Given the description of an element on the screen output the (x, y) to click on. 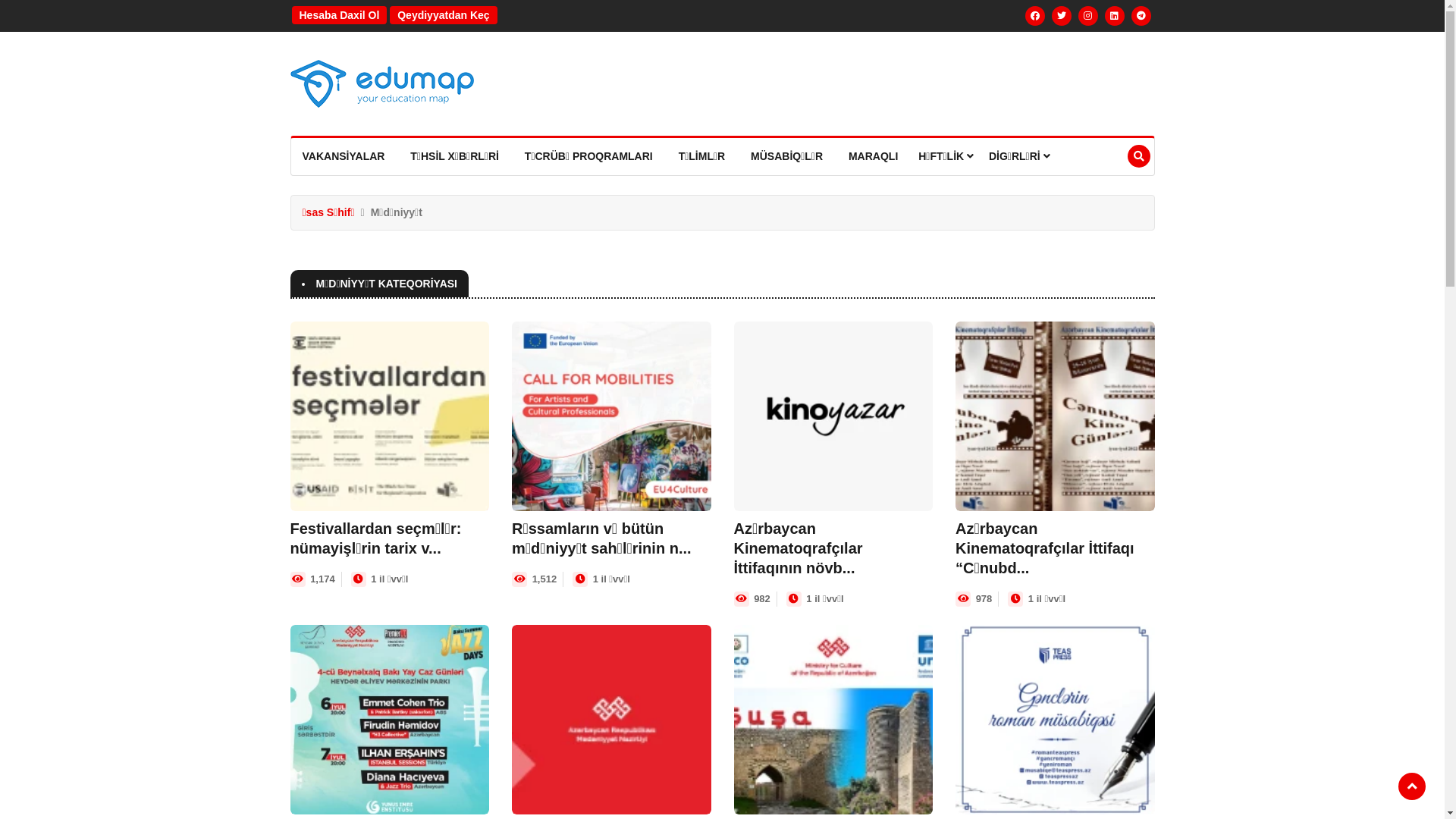
Instagram Element type: hover (1088, 15)
1,174 Element type: text (322, 578)
982 Element type: text (761, 598)
Hesaba Daxil Ol Element type: text (338, 15)
VAKANSIYALAR Element type: text (343, 156)
Telegram Element type: hover (1141, 15)
MARAQLI Element type: text (873, 156)
1,512 Element type: text (544, 578)
978 Element type: text (983, 598)
Linkdin Element type: hover (1114, 15)
Facebook Element type: hover (1034, 15)
Twitter Element type: hover (1061, 15)
